Given the description of an element on the screen output the (x, y) to click on. 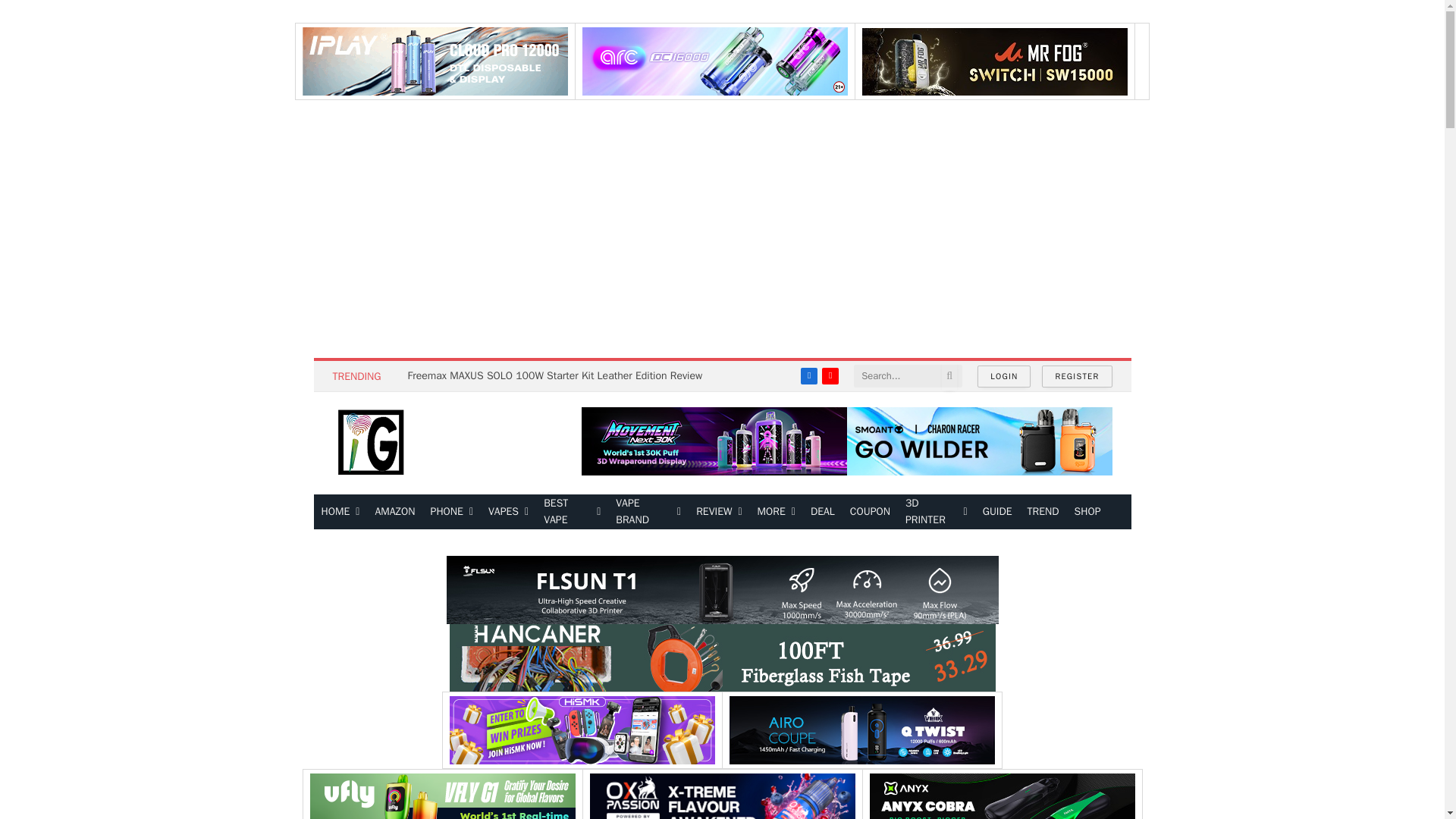
YouTube (830, 375)
Freemax MAXUS SOLO 100W Starter Kit Leather Edition Review (558, 376)
REGISTER (1077, 376)
AMAZON (394, 511)
PHONE (451, 511)
HOME (341, 511)
Facebook (808, 375)
LOGIN (1003, 376)
